Given the description of an element on the screen output the (x, y) to click on. 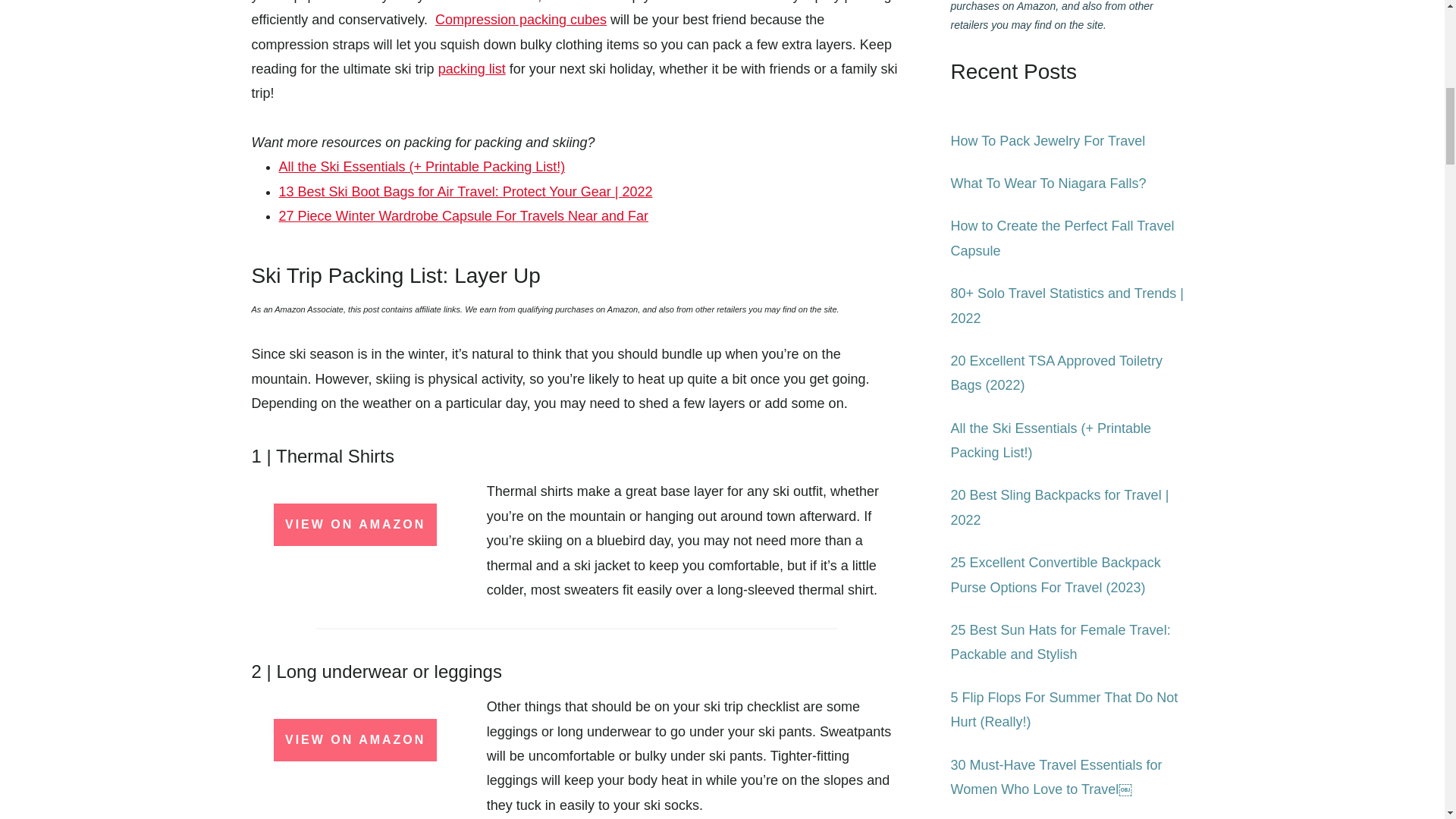
Compression packing cubes (521, 19)
packing list (471, 68)
VIEW ON AMAZON (354, 740)
VIEW ON AMAZON (354, 524)
27 Piece Winter Wardrobe Capsule For Travels Near and Far (464, 215)
